Given the description of an element on the screen output the (x, y) to click on. 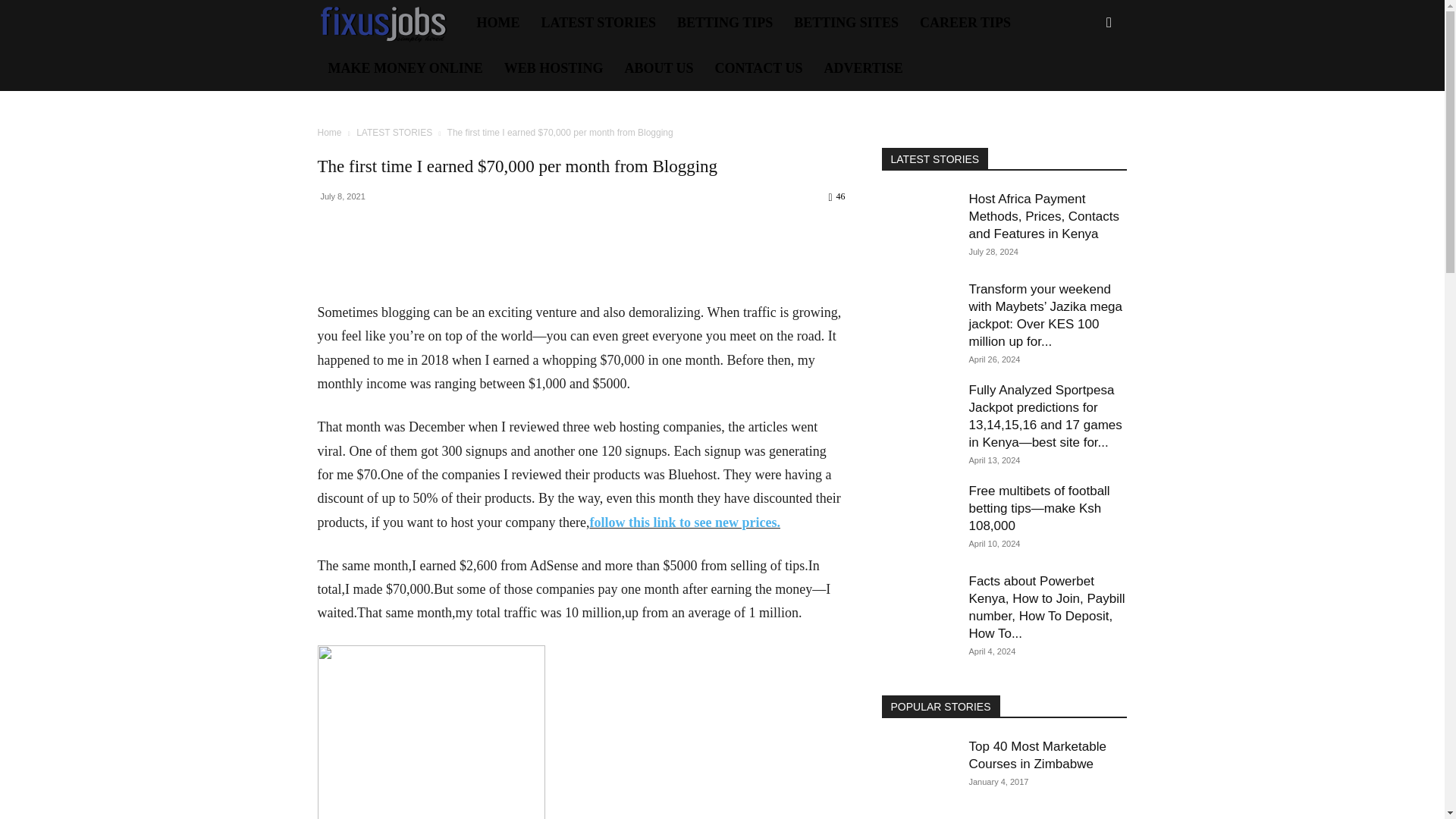
MAKE MONEY ONLINE (405, 67)
Search (1085, 87)
ABOUT US (657, 67)
LATEST STORIES (598, 22)
CAREER TIPS (965, 22)
BETTING SITES (845, 22)
CONTACT US (758, 67)
LATEST STORIES (394, 132)
ADVERTISE (862, 67)
Fixus Jobs (391, 22)
